Given the description of an element on the screen output the (x, y) to click on. 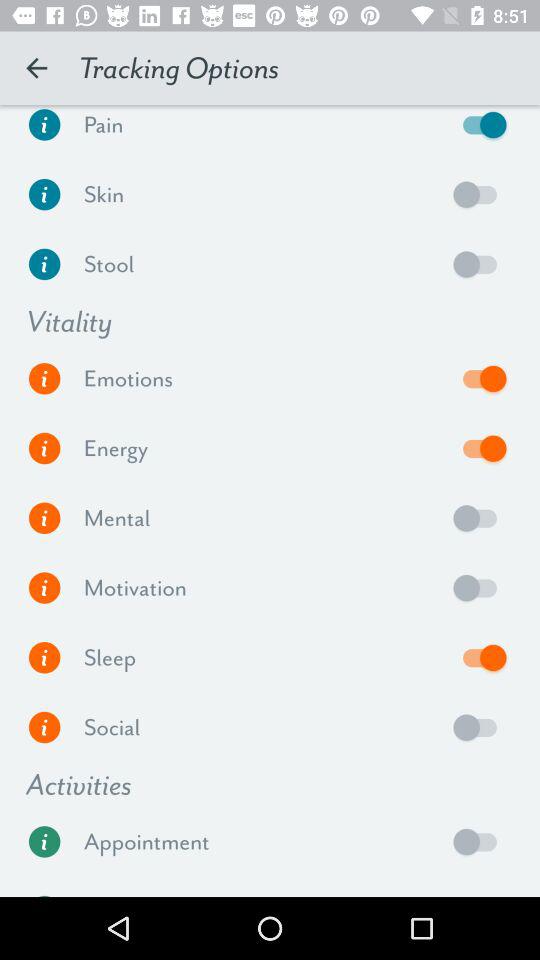
toggle pain tracking off (479, 129)
